Given the description of an element on the screen output the (x, y) to click on. 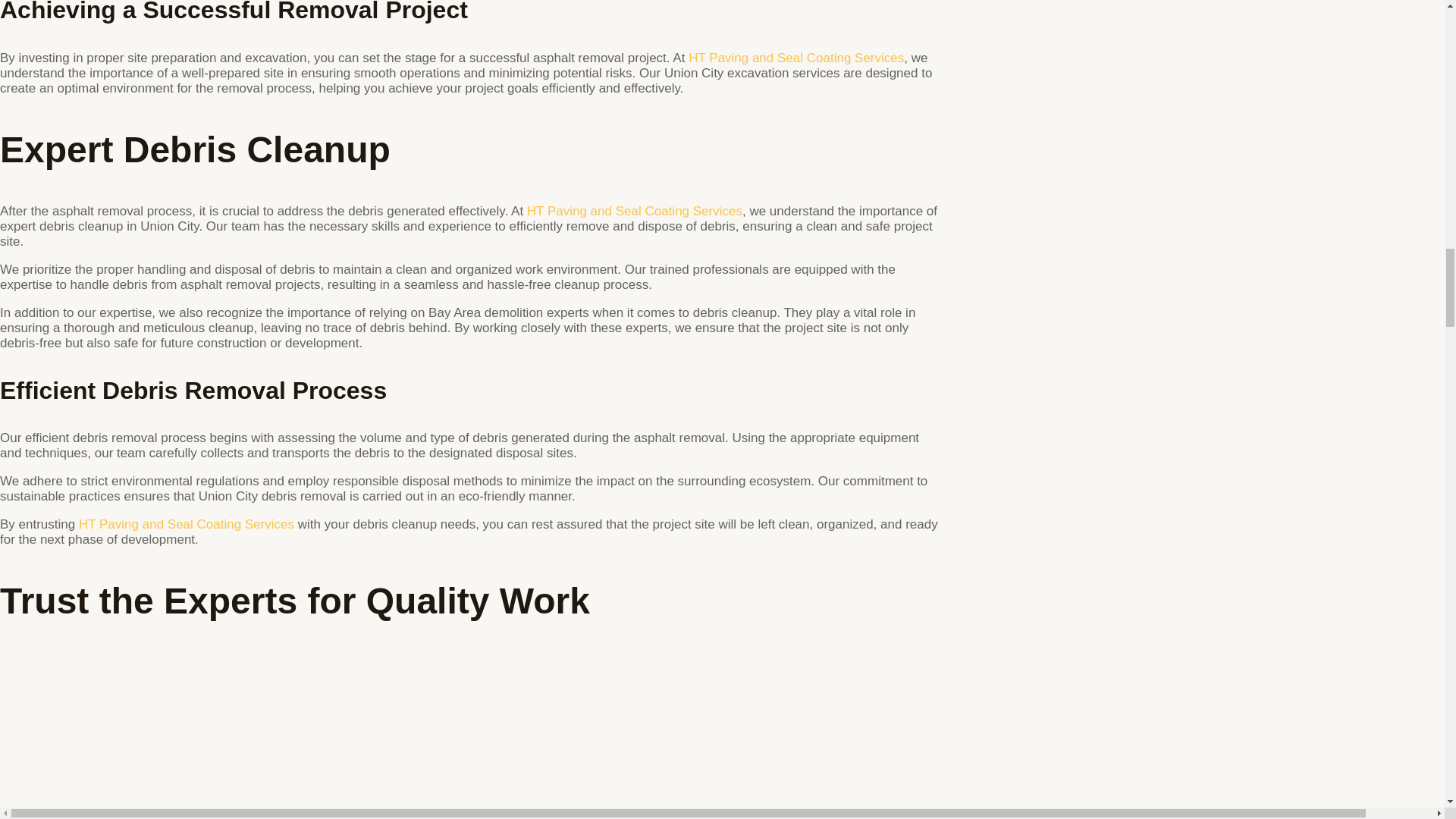
Learn More! (796, 57)
Learn More! (634, 210)
Learn More! (186, 523)
